Given the description of an element on the screen output the (x, y) to click on. 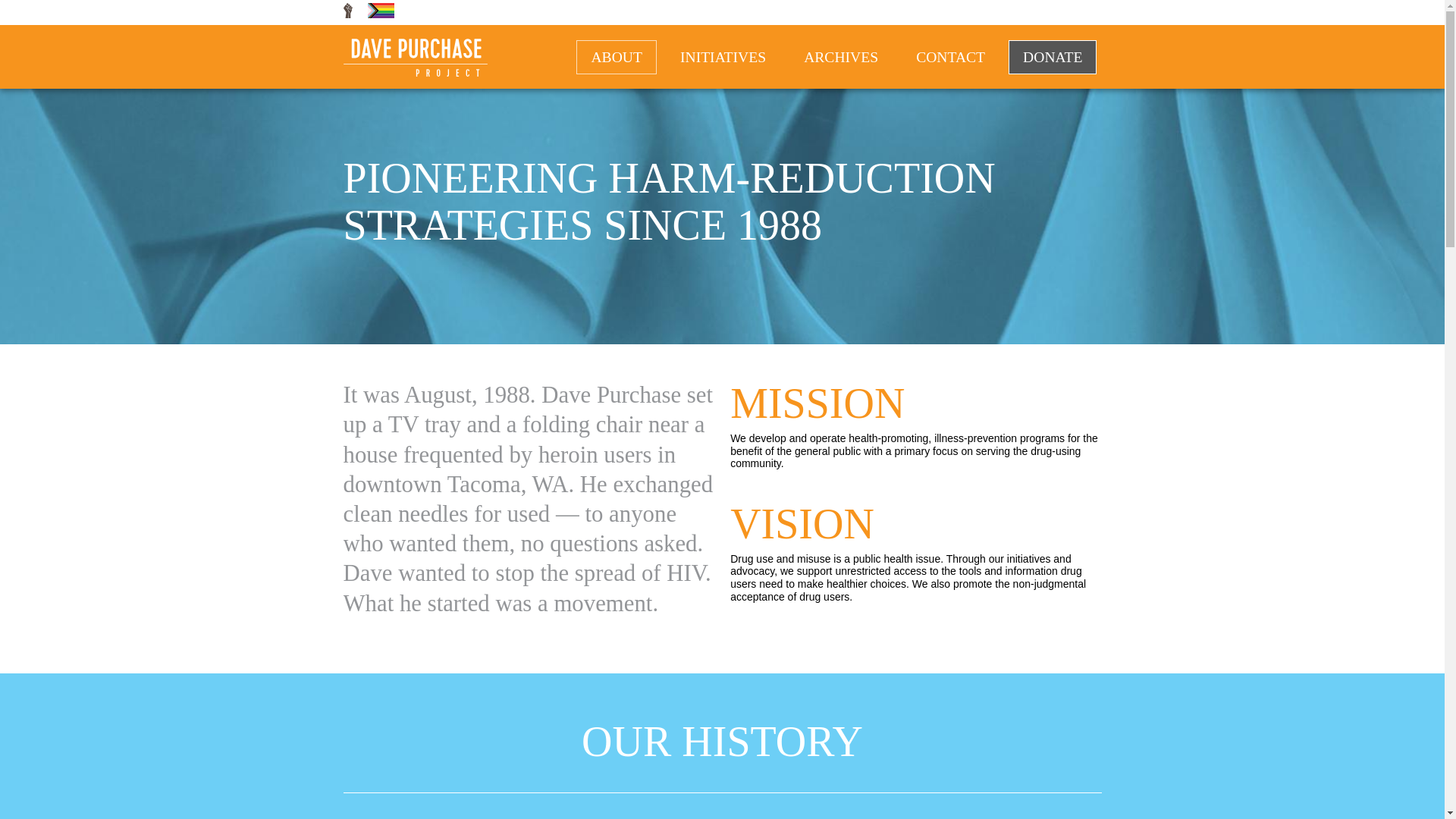
ARCHIVES (840, 57)
INITIATIVES (722, 57)
CONTACT (949, 57)
DONATE (1052, 57)
ABOUT (616, 57)
